Given the description of an element on the screen output the (x, y) to click on. 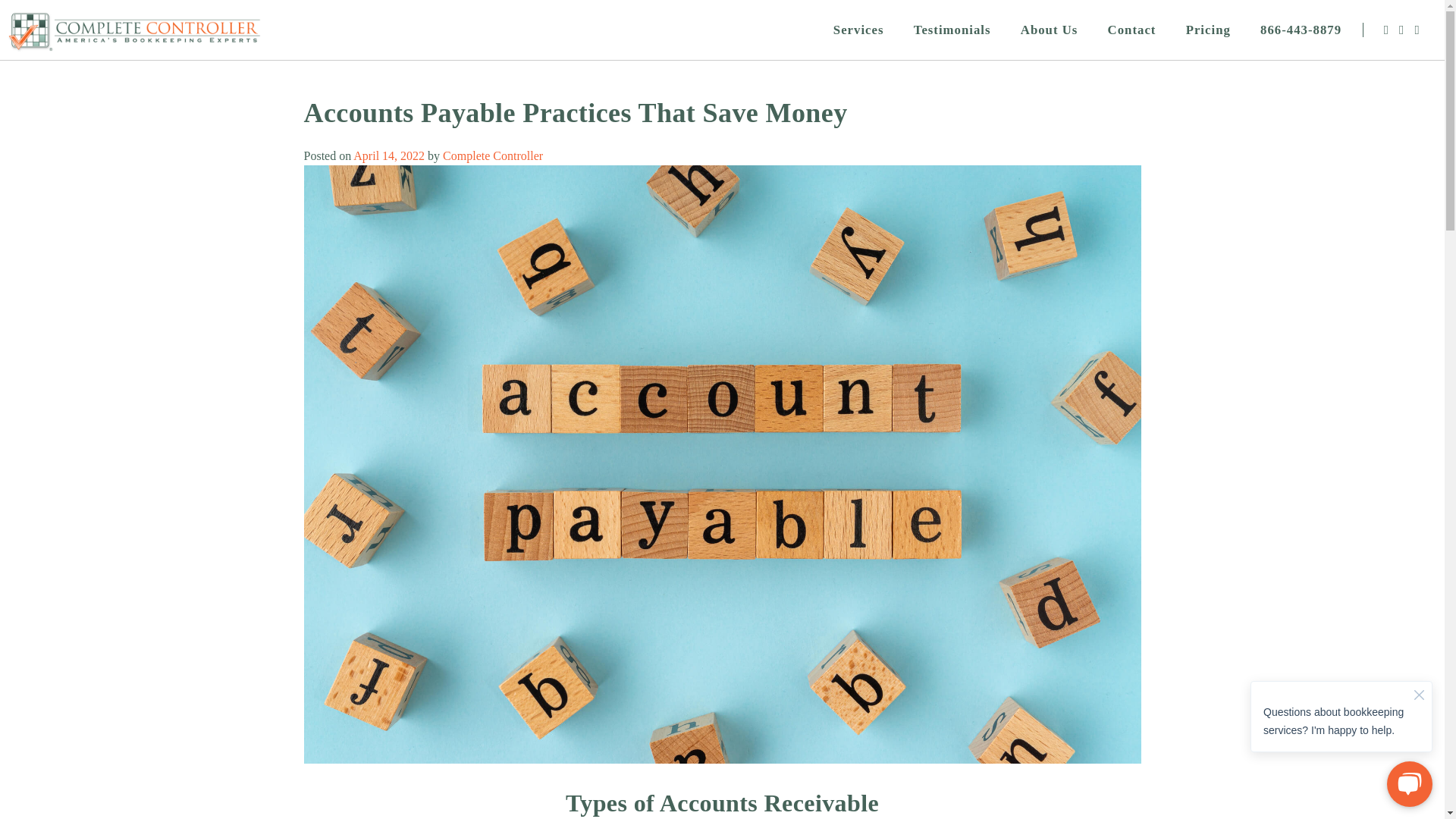
Complete Controller (492, 155)
Services (858, 29)
About Us (1048, 29)
April 14, 2022 (389, 155)
Contact (1131, 29)
Pricing (1208, 29)
866-443-8879 (1300, 29)
Testimonials (951, 29)
